Given the description of an element on the screen output the (x, y) to click on. 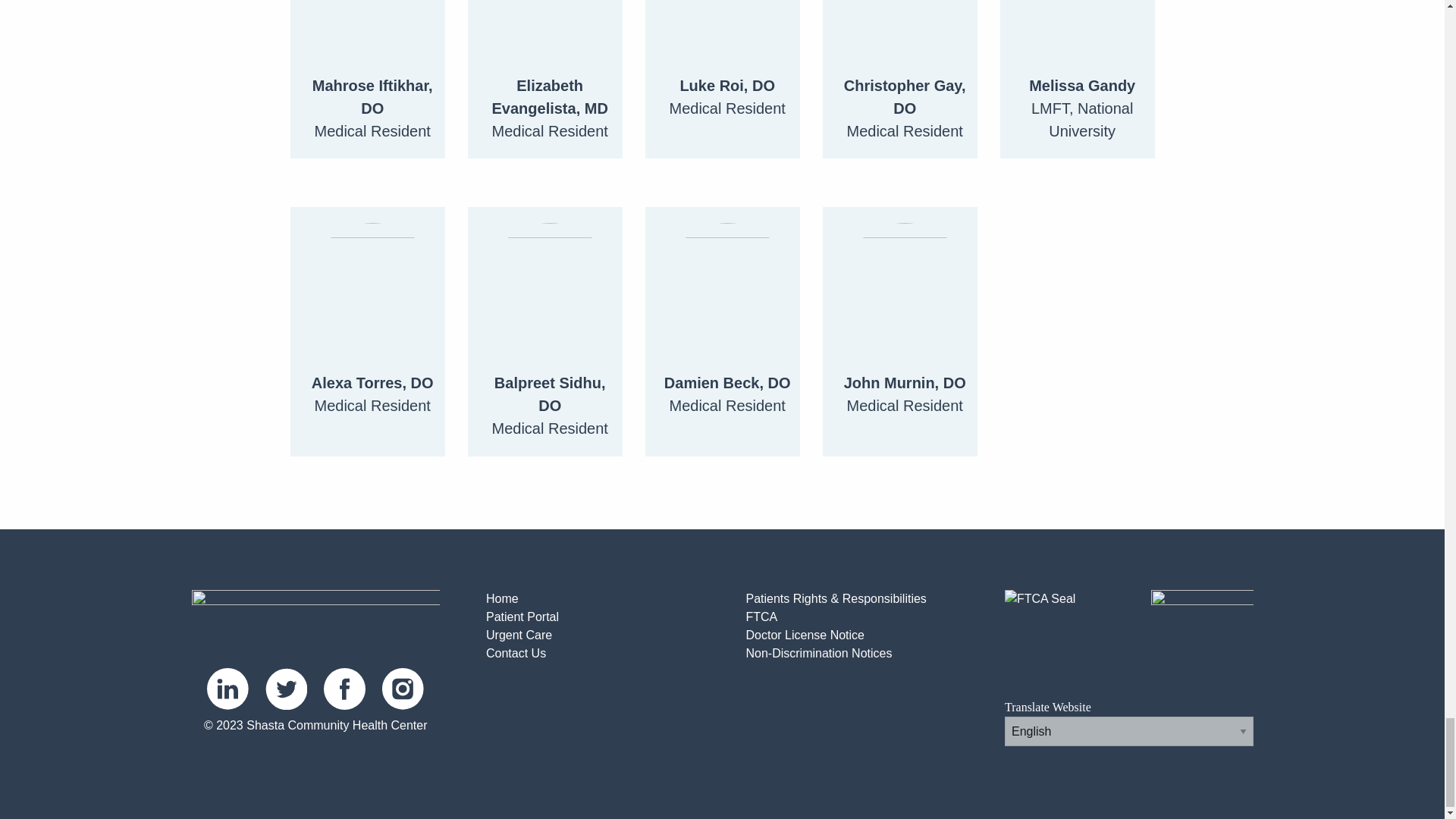
Facebook (344, 689)
Linkedin (227, 689)
Twitter (285, 689)
Instagram (402, 689)
